Given the description of an element on the screen output the (x, y) to click on. 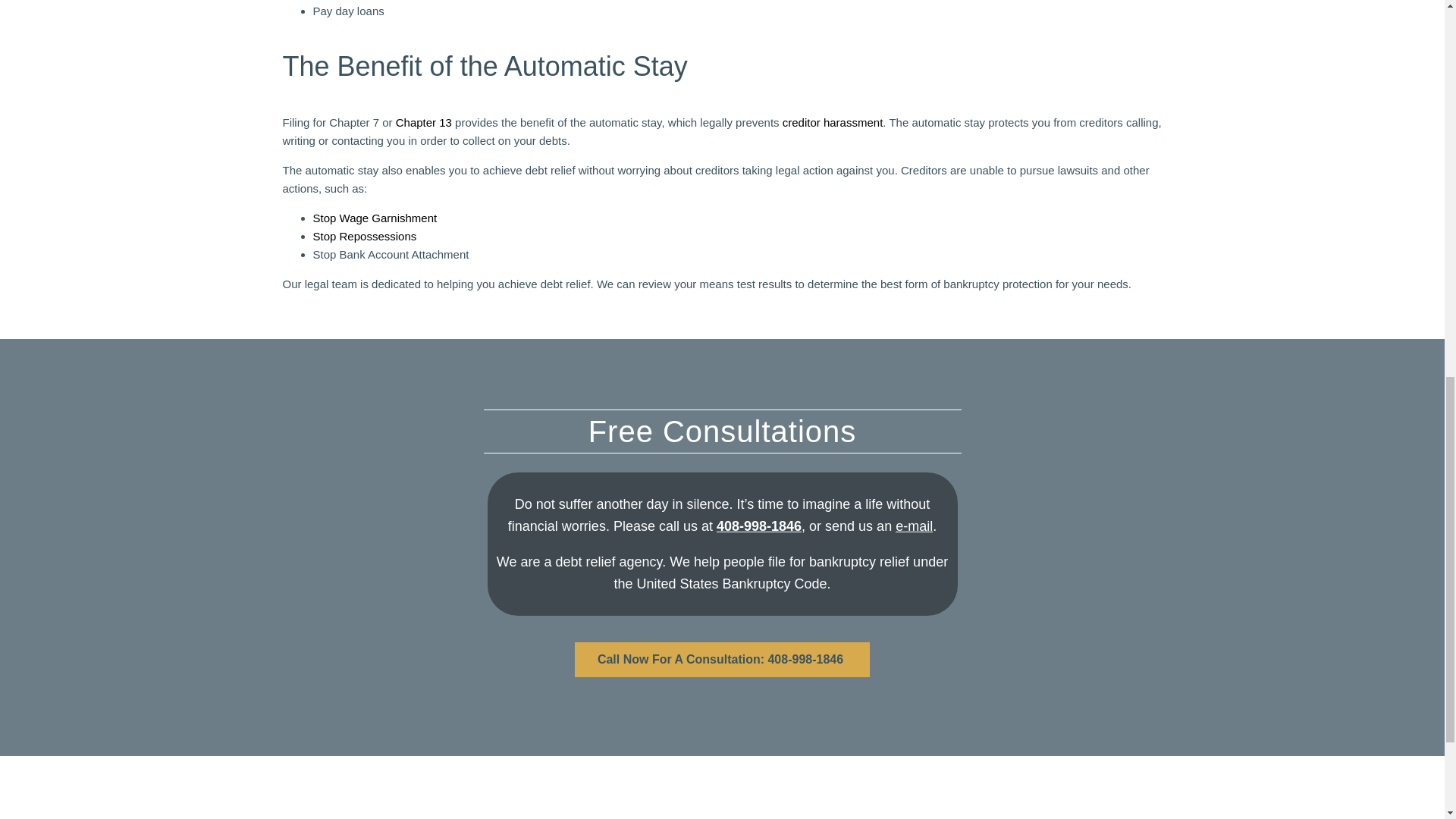
Free Chapter 13 Info (423, 122)
STOP Creditor Harassment (833, 122)
Stop Repossessions (364, 236)
STOP Wage Garnishment (374, 217)
